Given the description of an element on the screen output the (x, y) to click on. 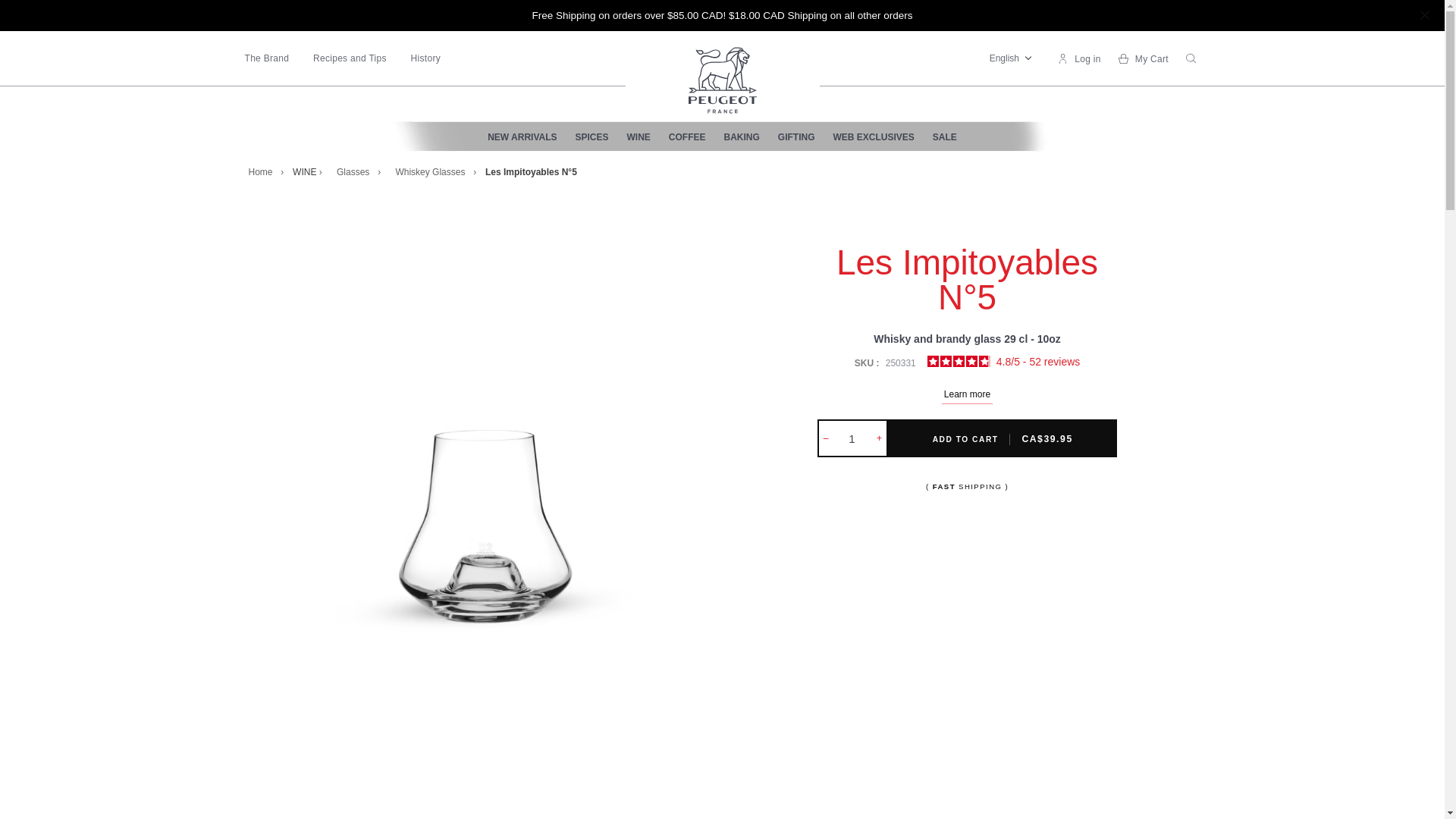
Go to Home Page (264, 171)
Recipes and Tips (349, 57)
Peugeot Saveurs (721, 79)
The Brand (266, 57)
Quantity (852, 438)
Log in (1078, 58)
1 (852, 438)
My Cart (1143, 58)
NEW ARRIVALS (521, 135)
Add to Cart (1002, 438)
